Given the description of an element on the screen output the (x, y) to click on. 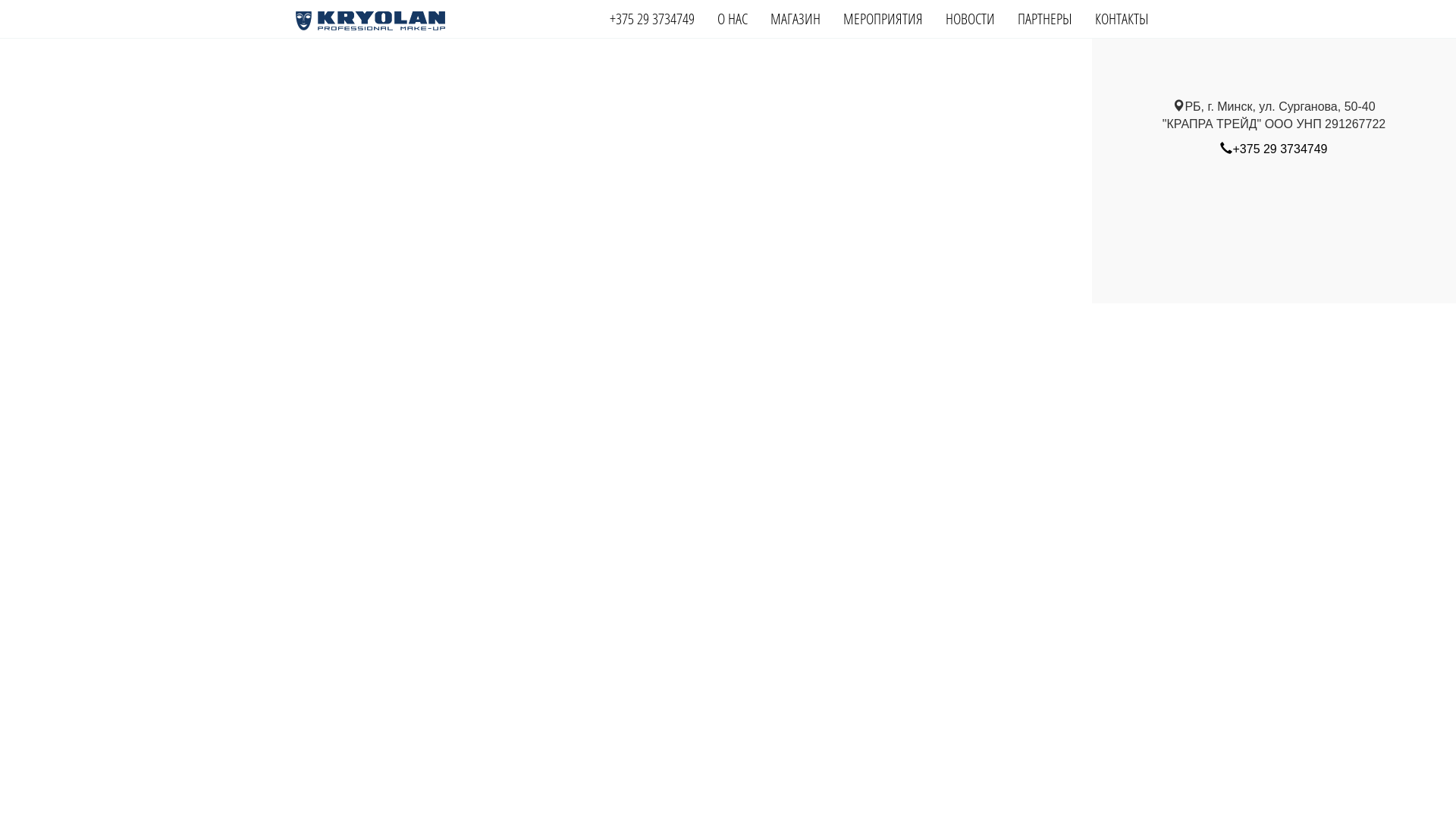
+375 29 3734749 Element type: text (1273, 148)
+375 29 3734749 Element type: text (652, 18)
